Given the description of an element on the screen output the (x, y) to click on. 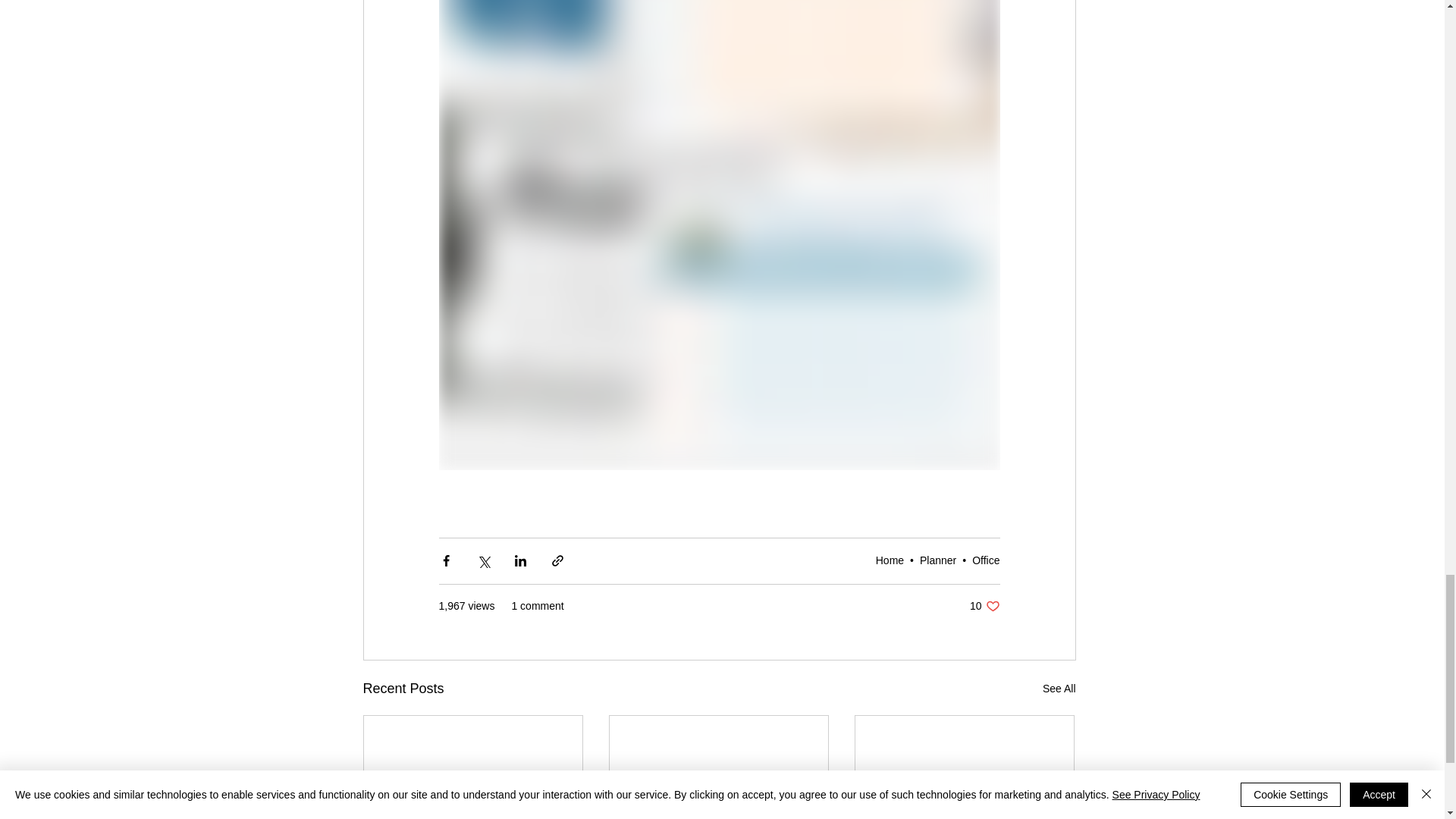
Office (985, 560)
Planner (938, 560)
Home (890, 560)
See All (1058, 689)
